Given the description of an element on the screen output the (x, y) to click on. 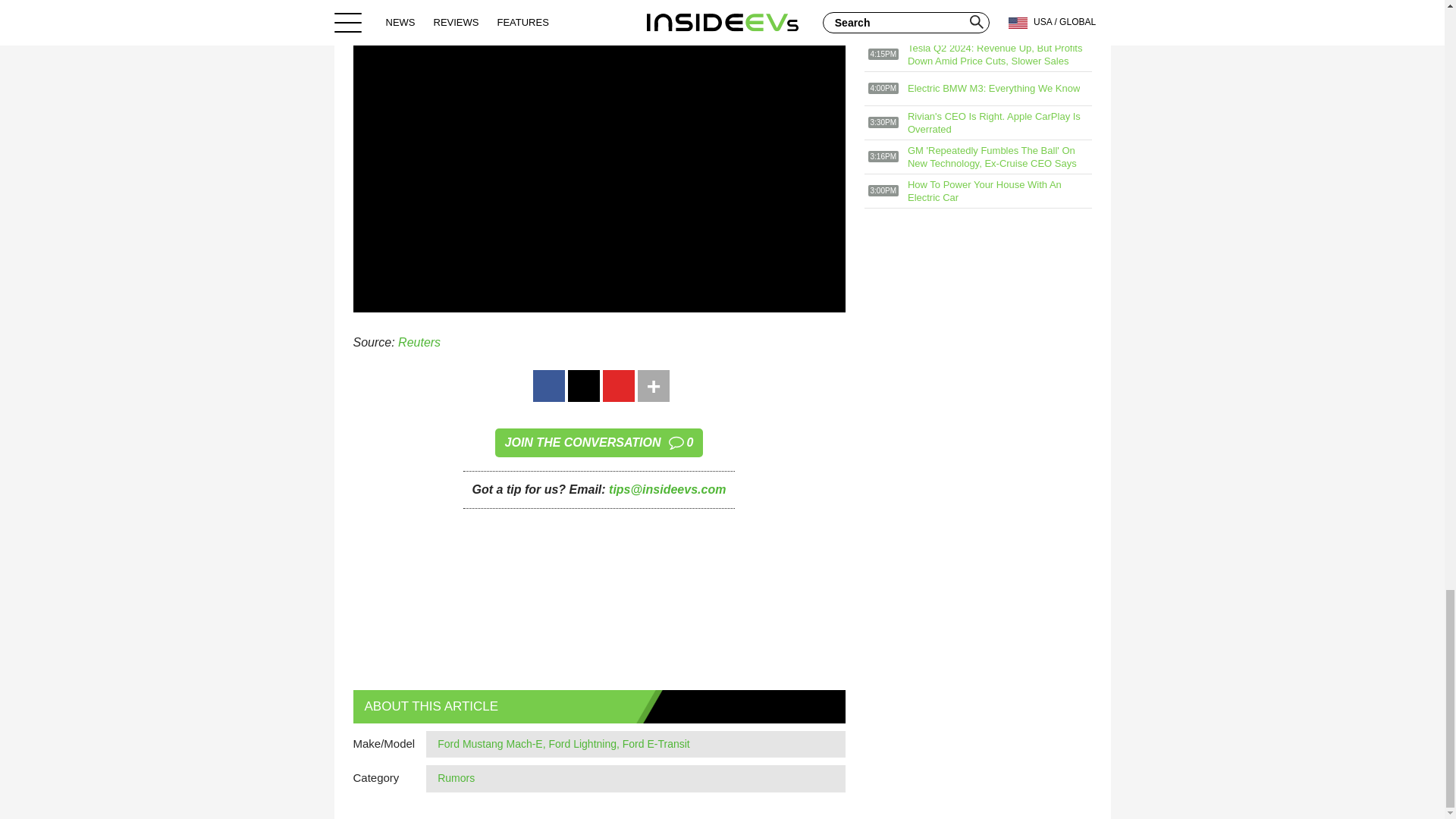
Reuters (419, 341)
